Given the description of an element on the screen output the (x, y) to click on. 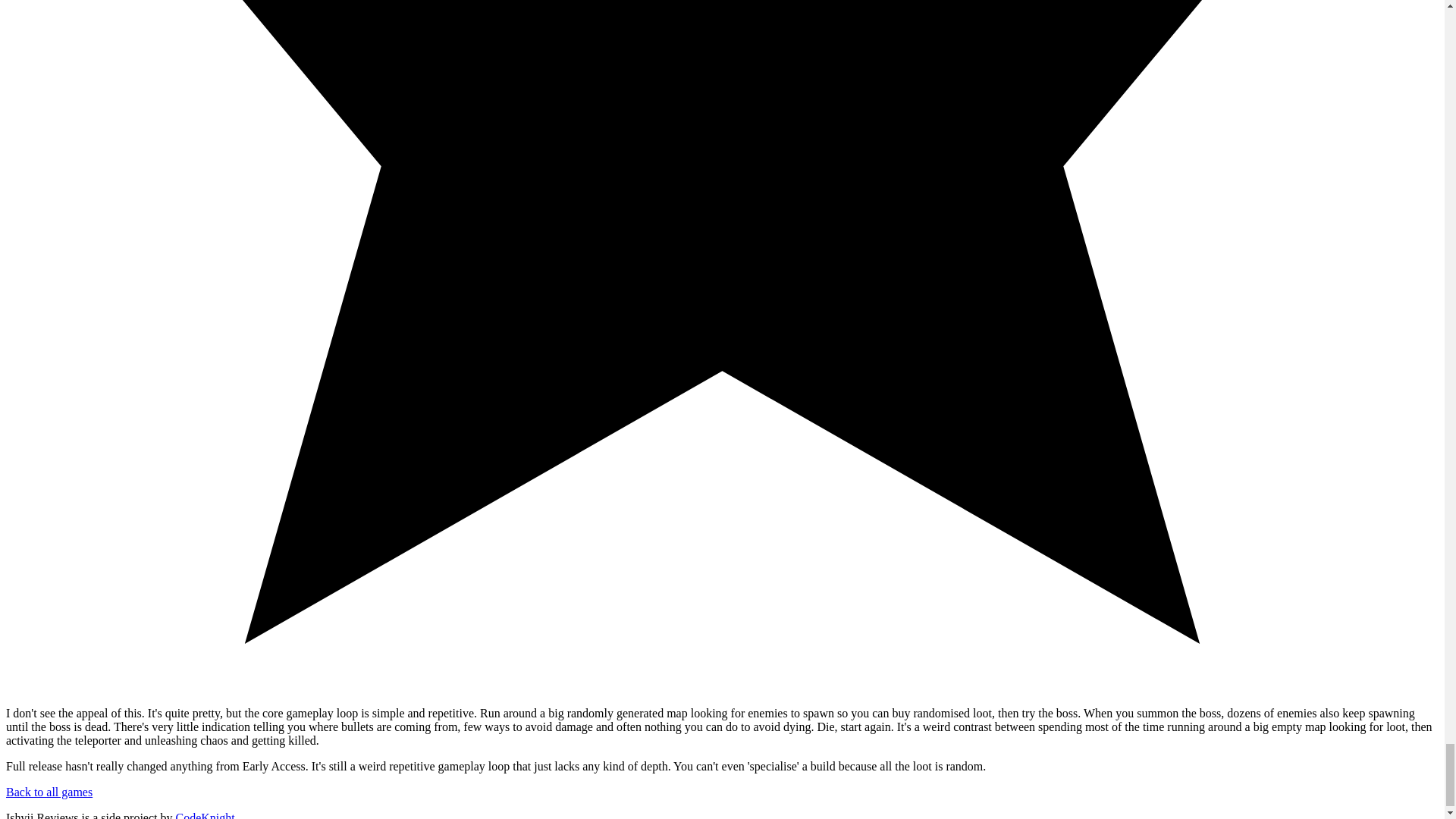
Back to all games (49, 791)
